Given the description of an element on the screen output the (x, y) to click on. 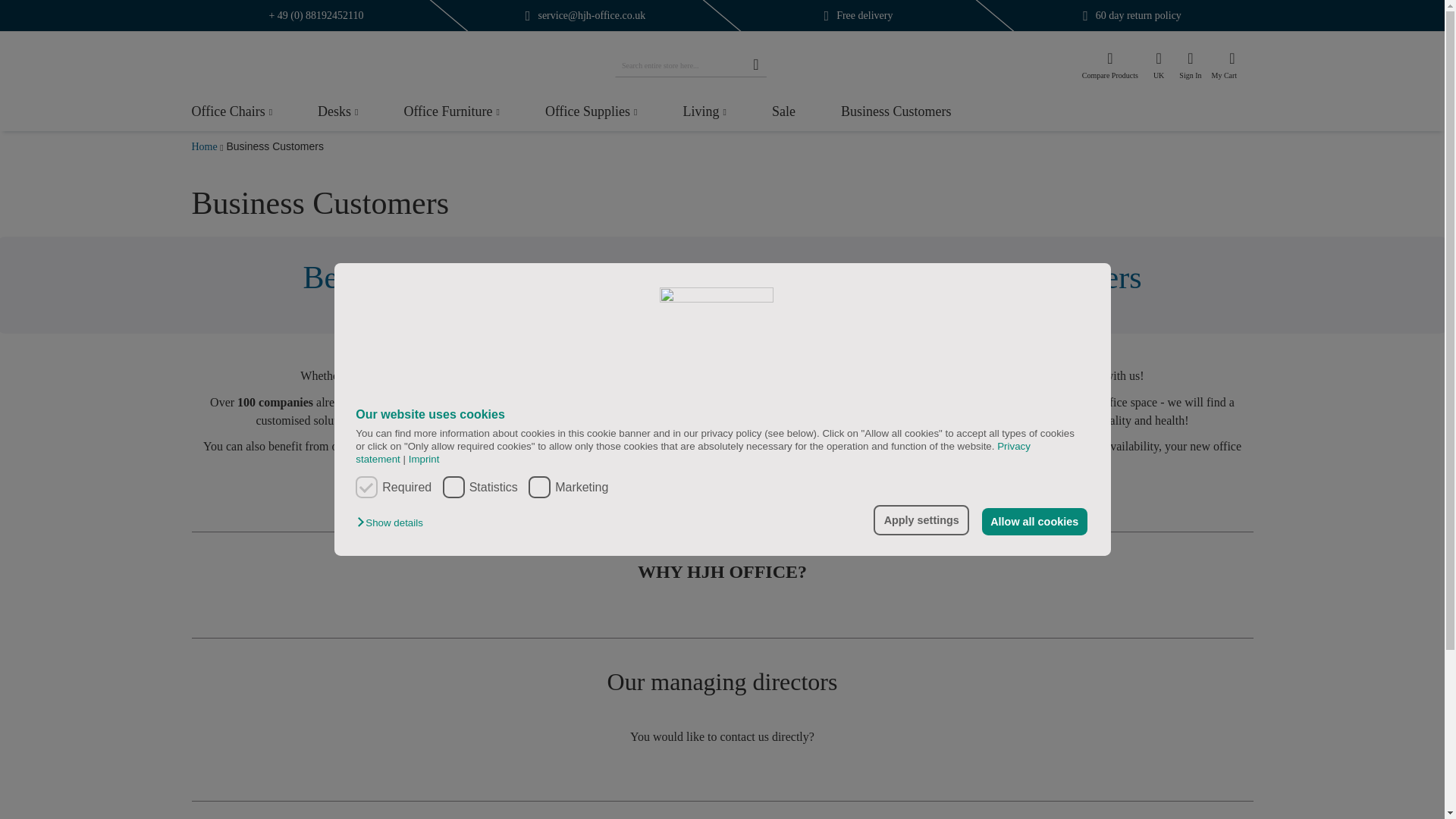
My Cart (1230, 65)
Office Chairs (231, 113)
Imprint (421, 459)
Free delivery (863, 15)
Allow all cookies (1034, 521)
Privacy statement (692, 452)
60 day return policy (1137, 15)
Show details (392, 522)
Privacy statement (692, 452)
Apply settings (921, 520)
Compare Products (1109, 67)
Imprint (421, 459)
